Given the description of an element on the screen output the (x, y) to click on. 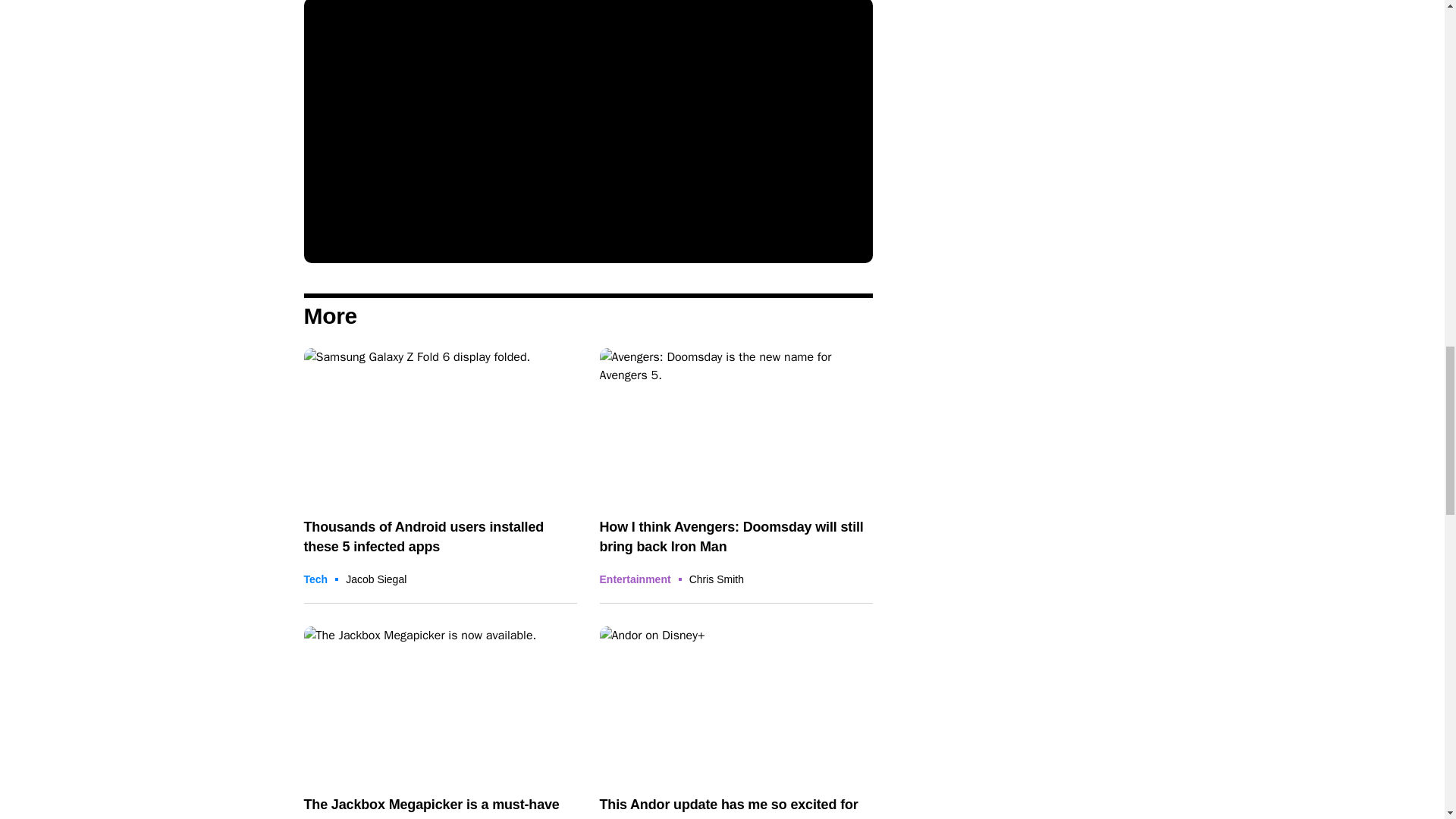
Avengers: Doomsday (735, 425)
Jackbox Megapicker (439, 703)
Posts by Jacob Siegal (376, 579)
Posts by Chris Smith (716, 579)
Andor (735, 703)
Android apps (439, 425)
